Given the description of an element on the screen output the (x, y) to click on. 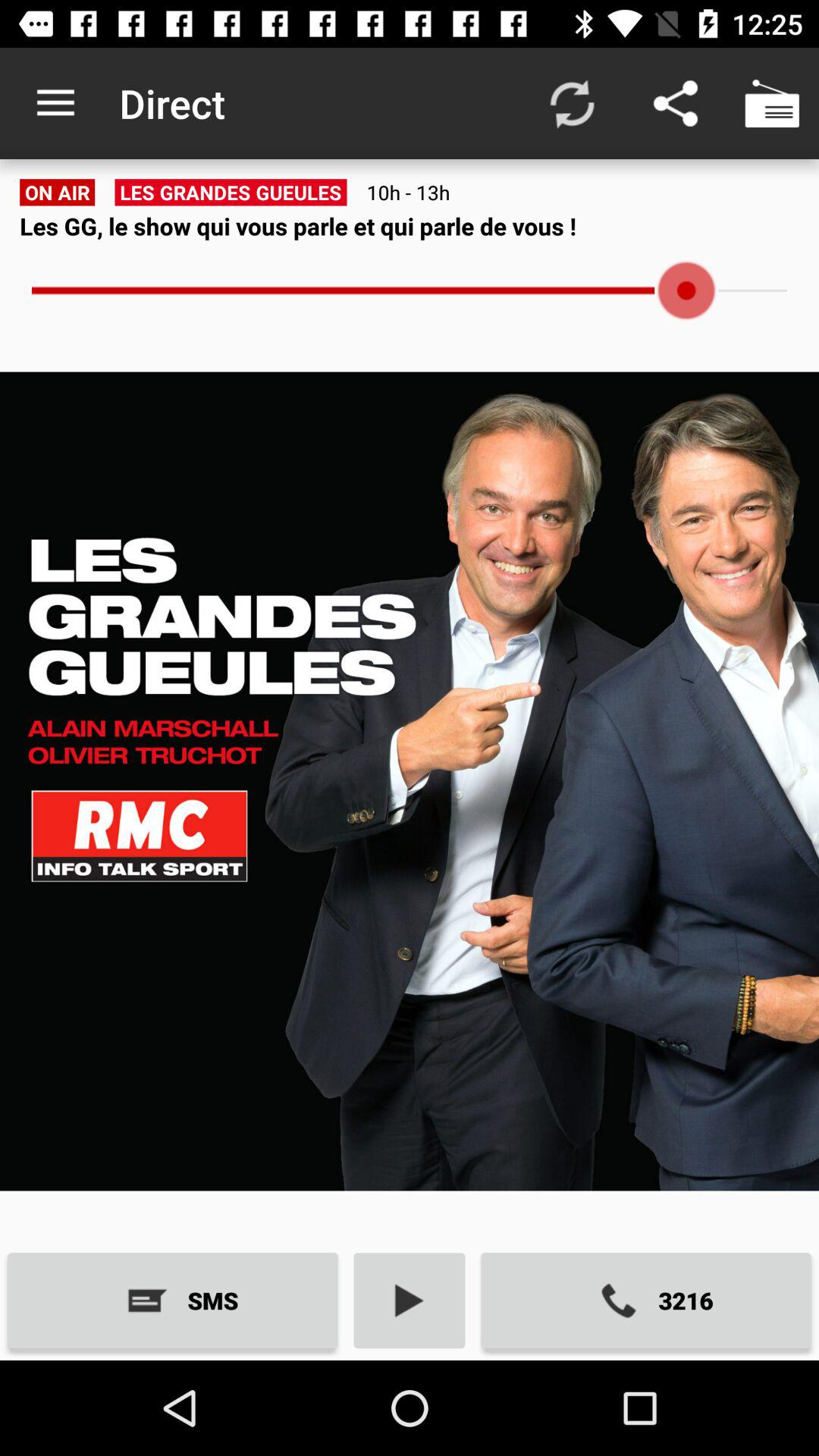
swipe until sms (172, 1300)
